Given the description of an element on the screen output the (x, y) to click on. 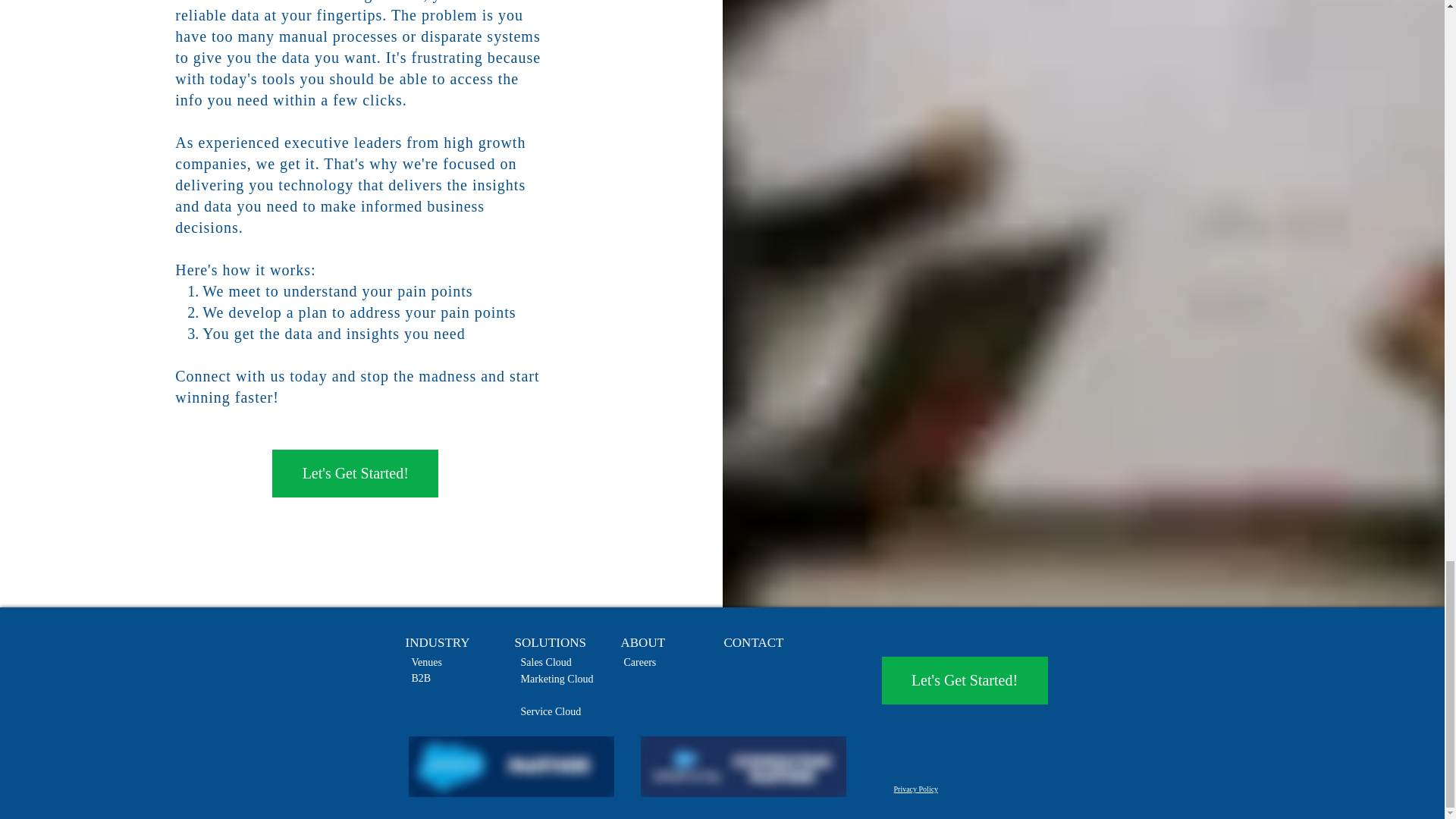
Privacy Policy (915, 788)
Venues (425, 662)
ABOUT (642, 642)
Sales Cloud (544, 662)
SOLUTIONS (549, 642)
Let's Get Started! (963, 680)
CONTACT (753, 642)
Marketing Cloud (555, 678)
Careers (639, 662)
B2B (420, 677)
INDUSTRY (436, 642)
Service Cloud (549, 711)
Let's Get Started! (355, 473)
